Given the description of an element on the screen output the (x, y) to click on. 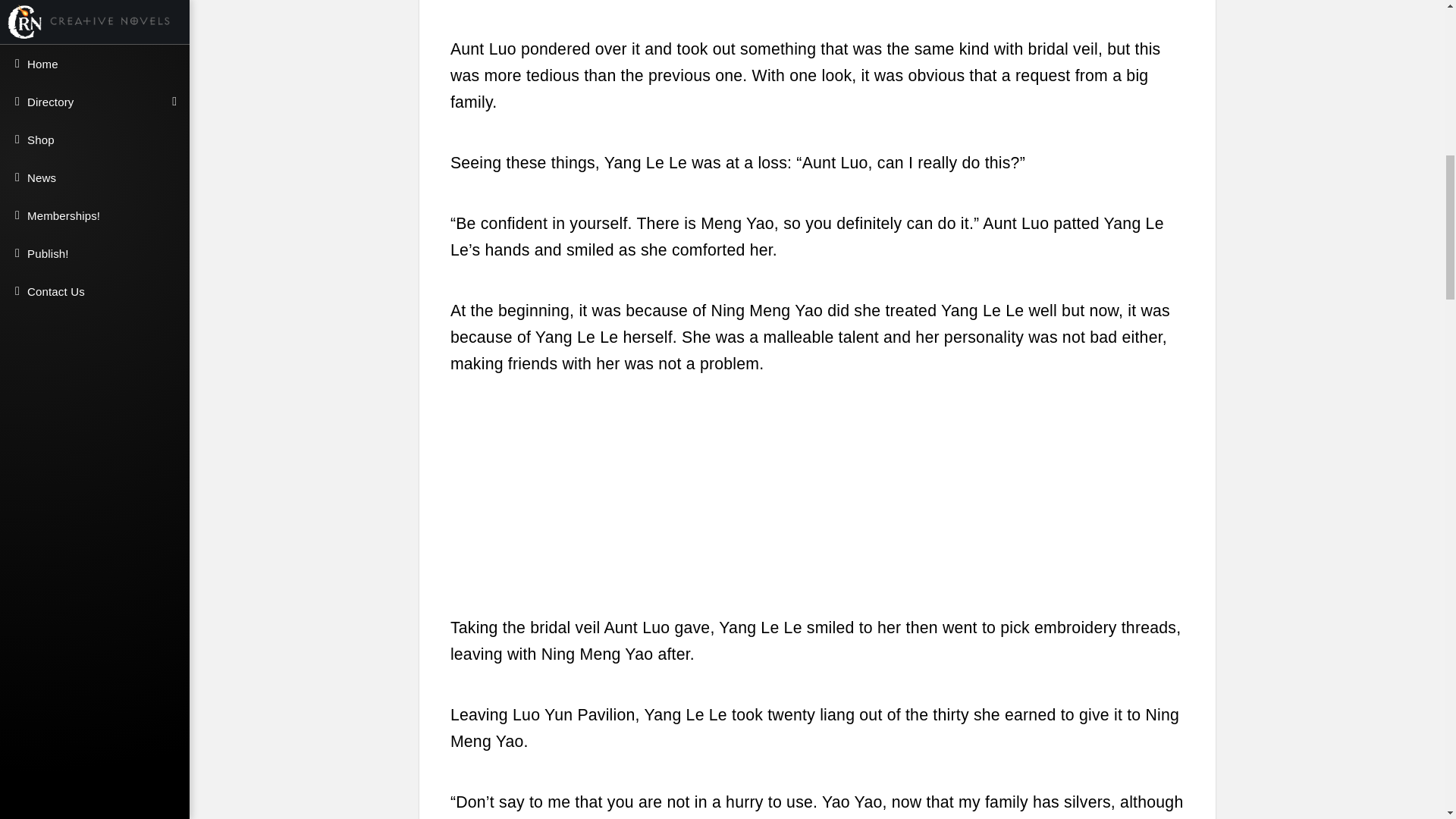
Back to Top (1423, 35)
